Given the description of an element on the screen output the (x, y) to click on. 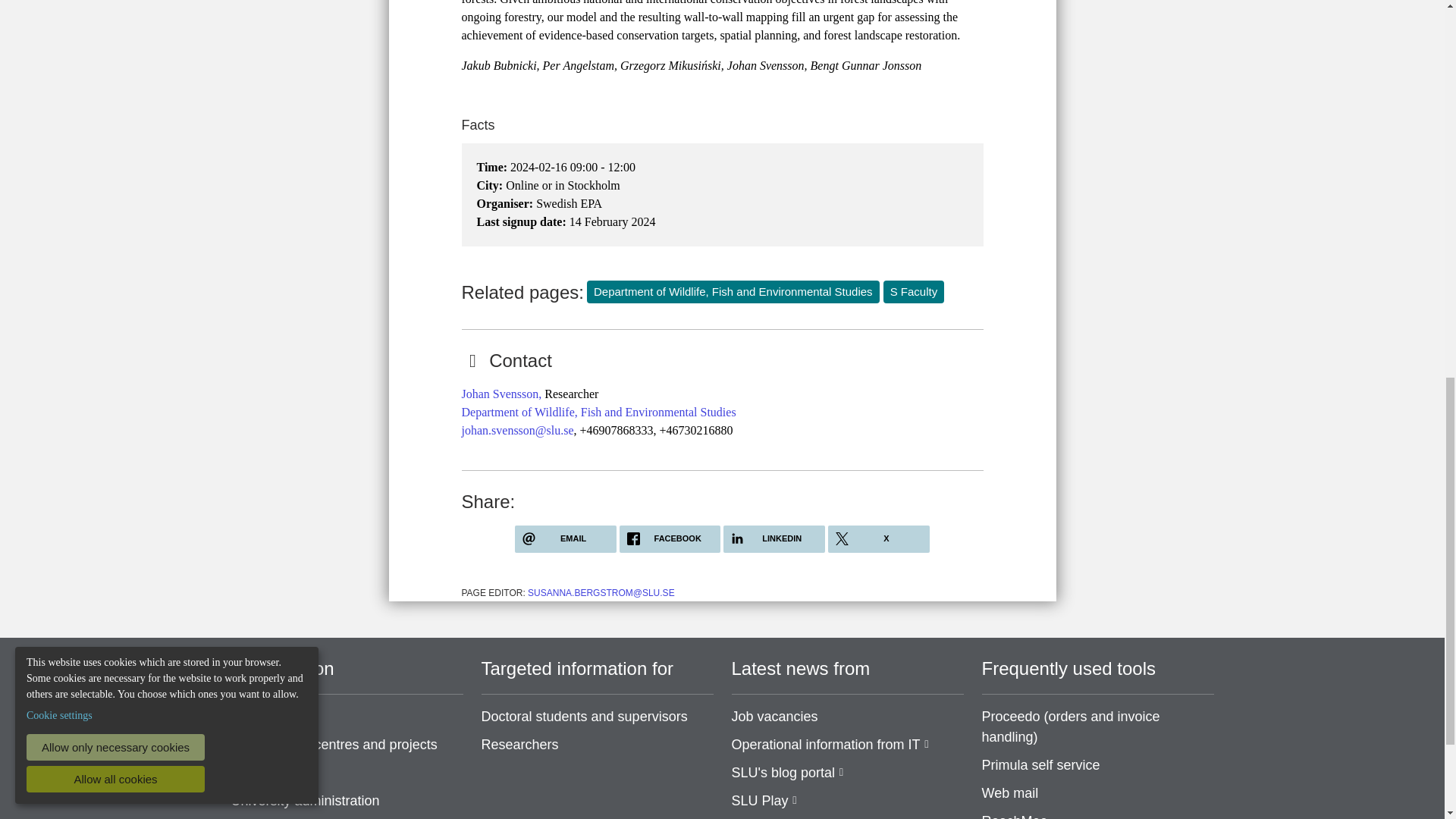
Department of Wildlife, Fish and Environmental Studies (598, 411)
